Given the description of an element on the screen output the (x, y) to click on. 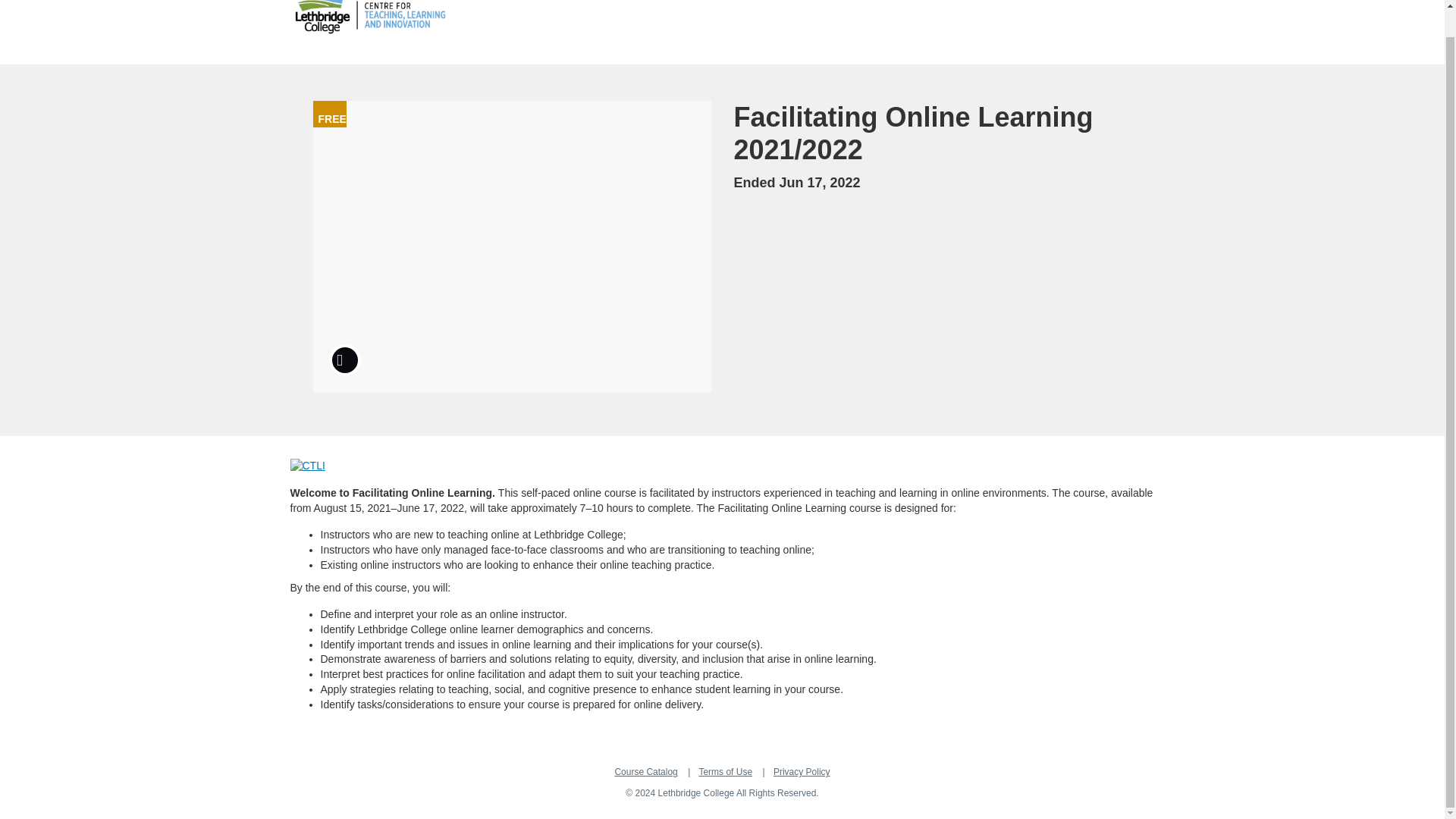
Privacy Policy (801, 771)
Course (345, 359)
CTLI (306, 466)
Terms of Use (725, 771)
Course Catalog (645, 771)
